Given the description of an element on the screen output the (x, y) to click on. 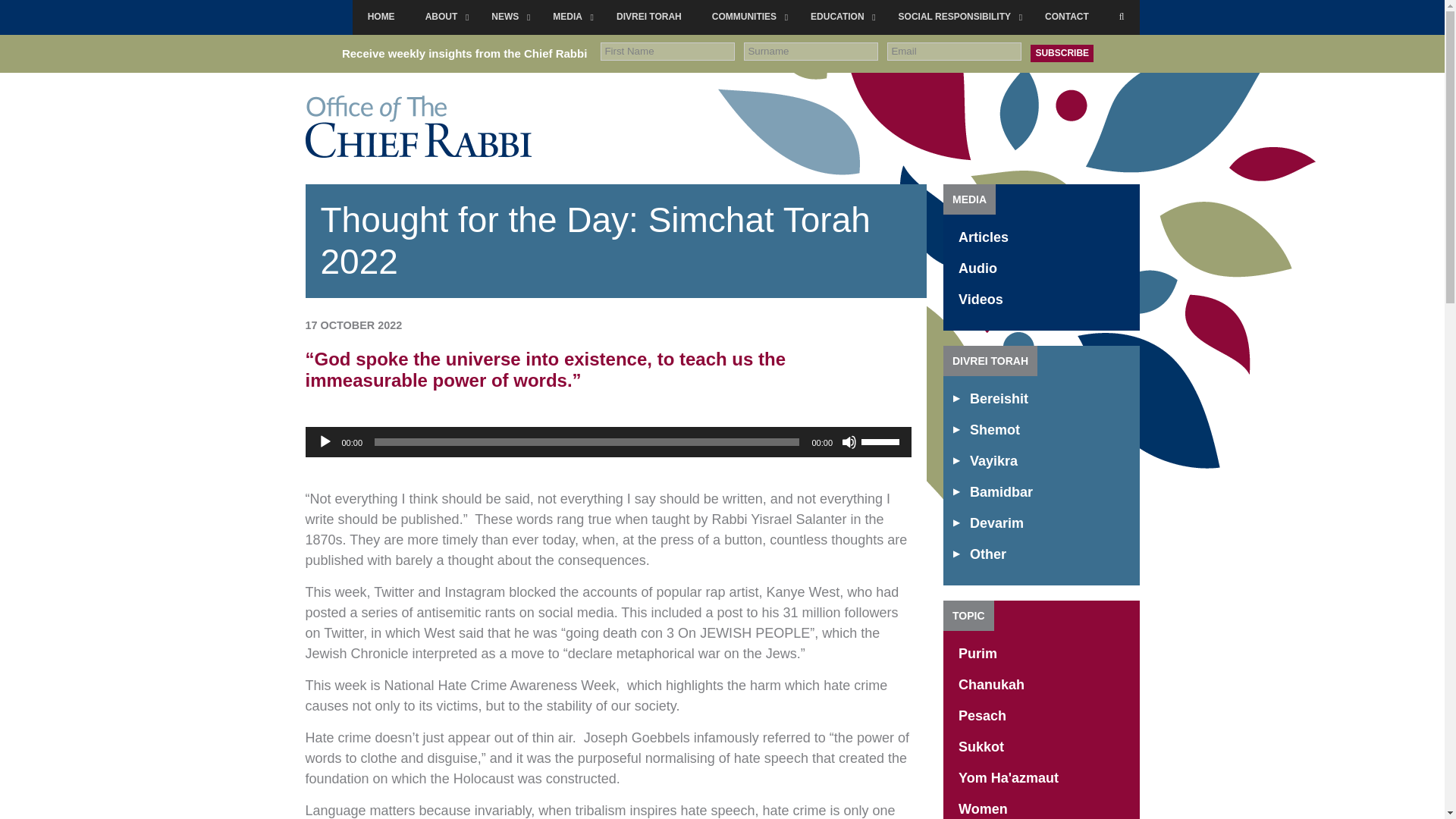
Subscribe (1061, 53)
MEDIA (569, 17)
Email (954, 51)
NEWS (506, 17)
Surname (810, 51)
First Name (667, 51)
HOME (381, 17)
